Given the description of an element on the screen output the (x, y) to click on. 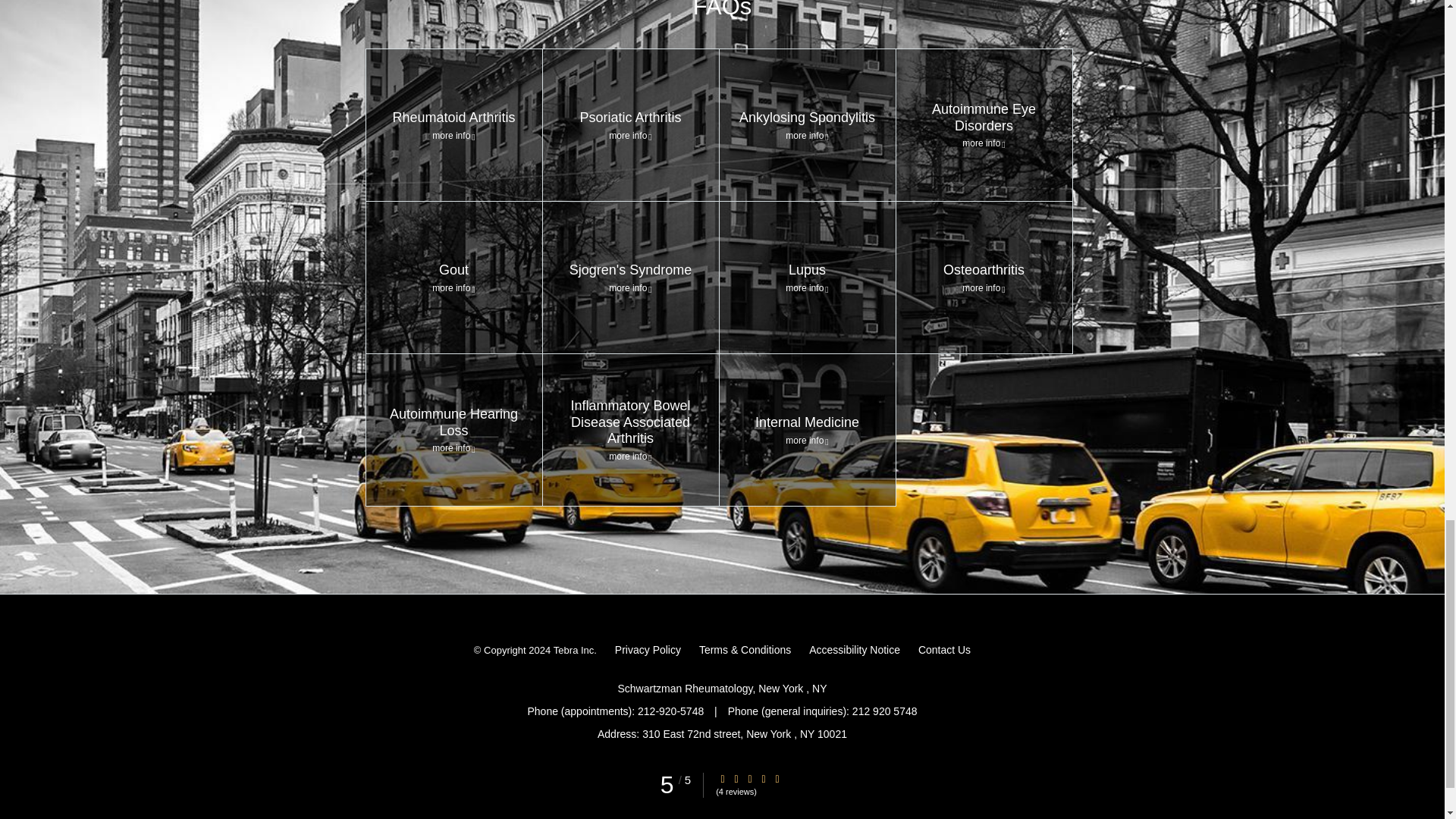
Star Rating (777, 778)
Star Rating (722, 778)
Star Rating (749, 778)
Star Rating (763, 778)
Star Rating (735, 778)
